Given the description of an element on the screen output the (x, y) to click on. 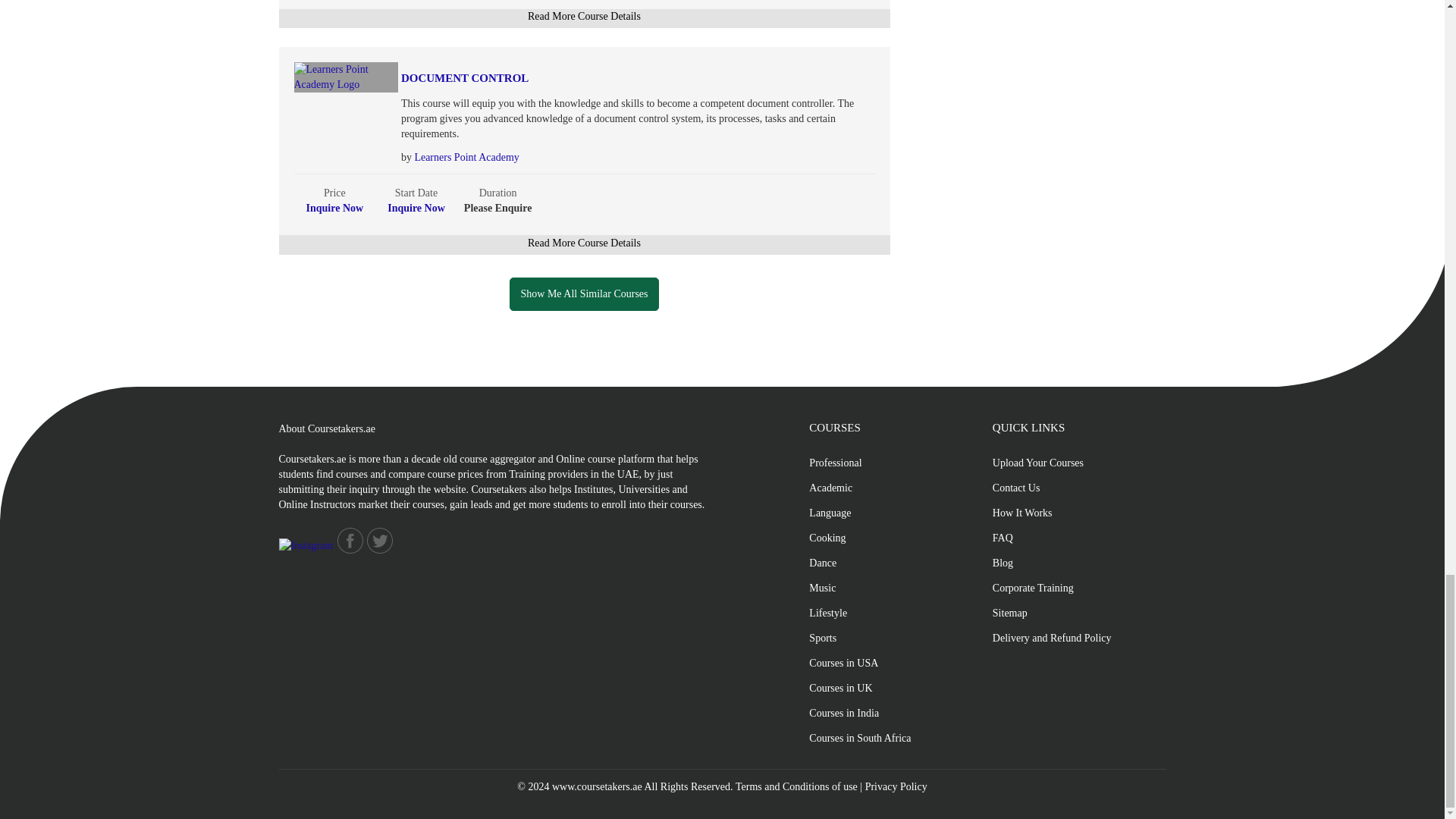
Document Control (602, 78)
